Given the description of an element on the screen output the (x, y) to click on. 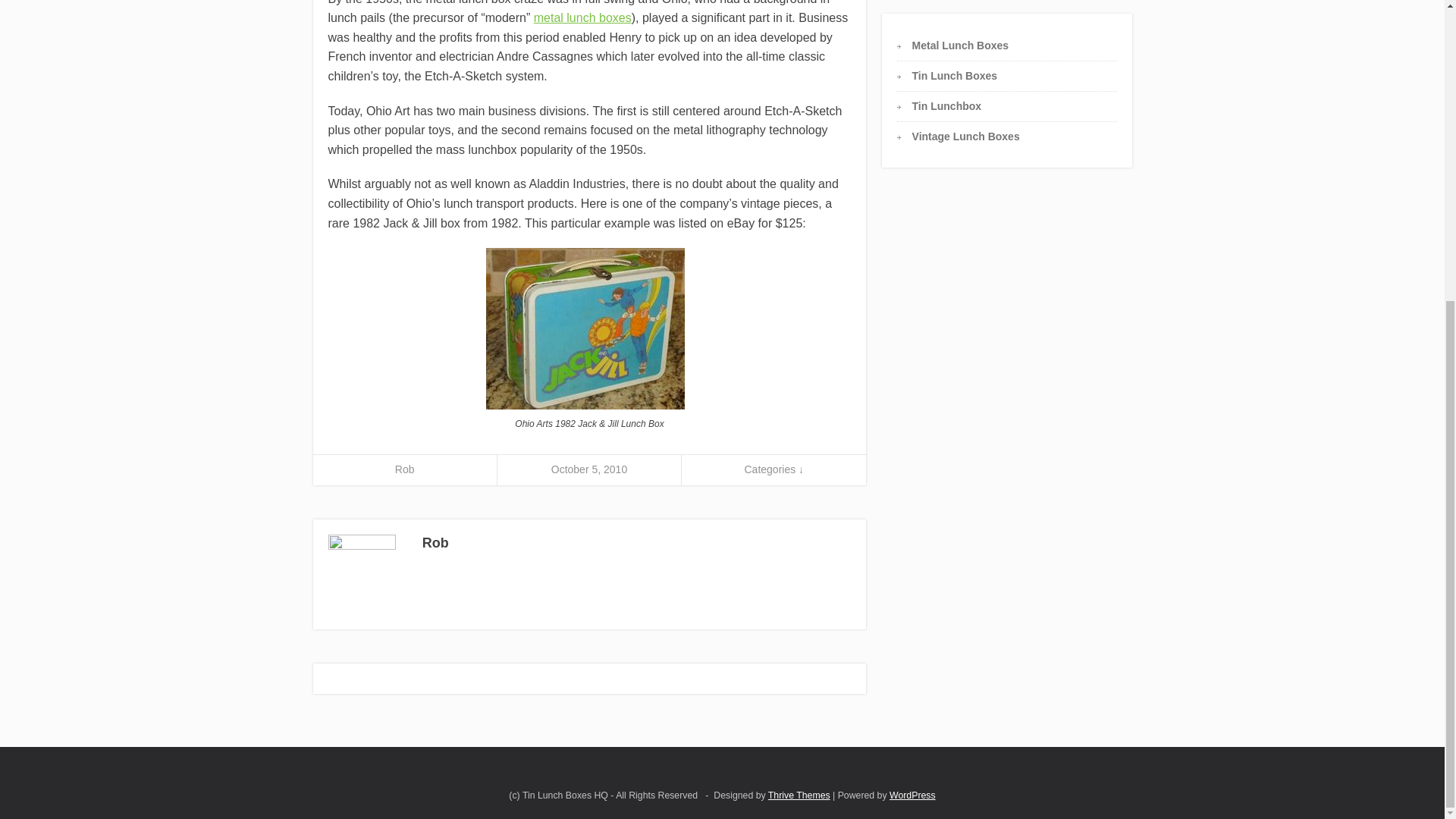
Metal Lunch Boxes (960, 44)
Thrive Themes (798, 795)
metal lunch boxes (582, 17)
Vintage Lunch Boxes (966, 136)
Rob (404, 469)
Tin Lunchbox (946, 105)
WordPress (912, 795)
Tin Lunch Boxes (954, 75)
